Given the description of an element on the screen output the (x, y) to click on. 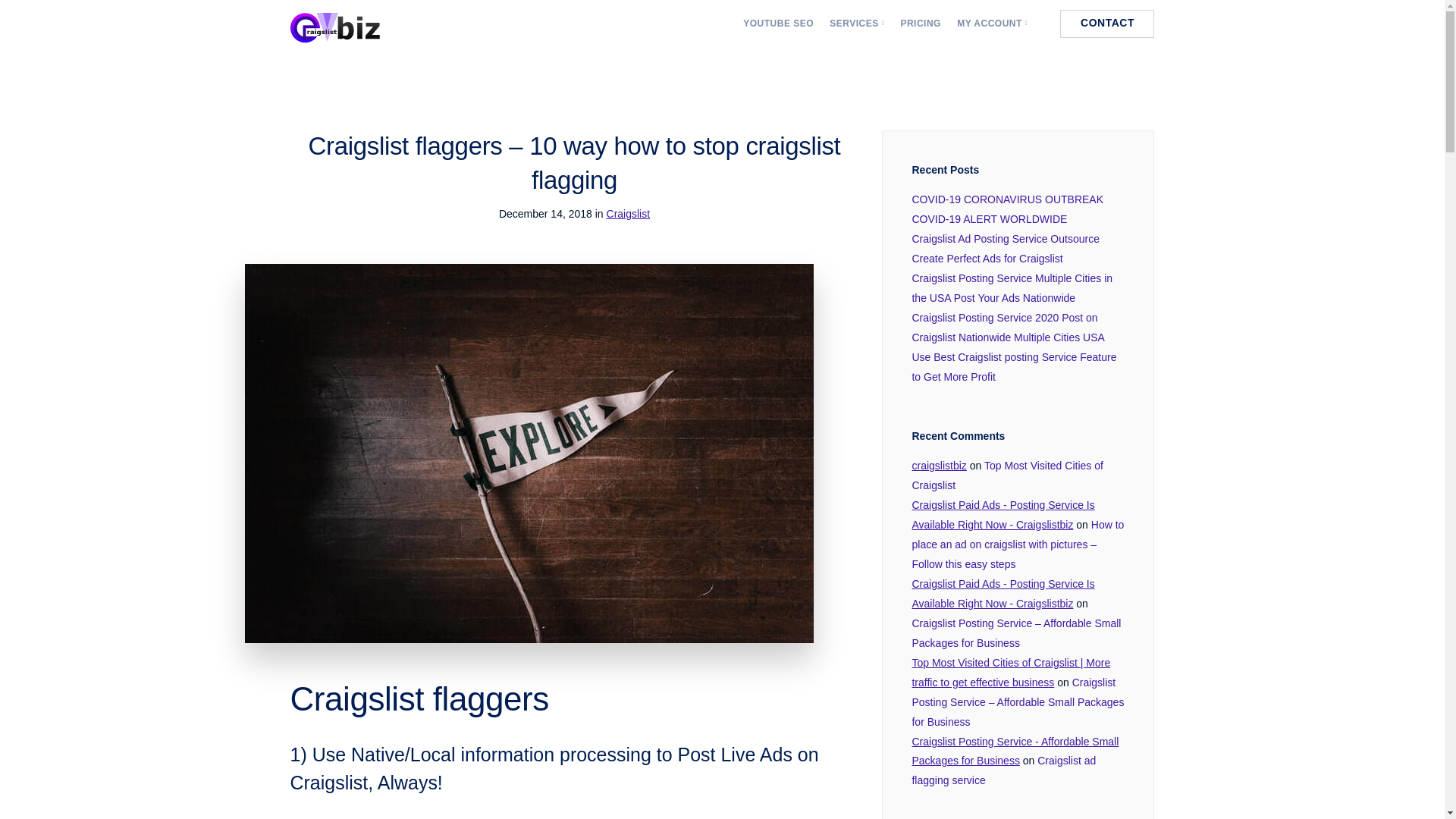
CONTACT (1106, 23)
Craigslist ad flagging service (1003, 770)
Craigslist (628, 214)
COVID-19 CORONAVIRUS OUTBREAK COVID-19 ALERT WORLDWIDE (1007, 209)
MY ACCOUNT (991, 23)
